Given the description of an element on the screen output the (x, y) to click on. 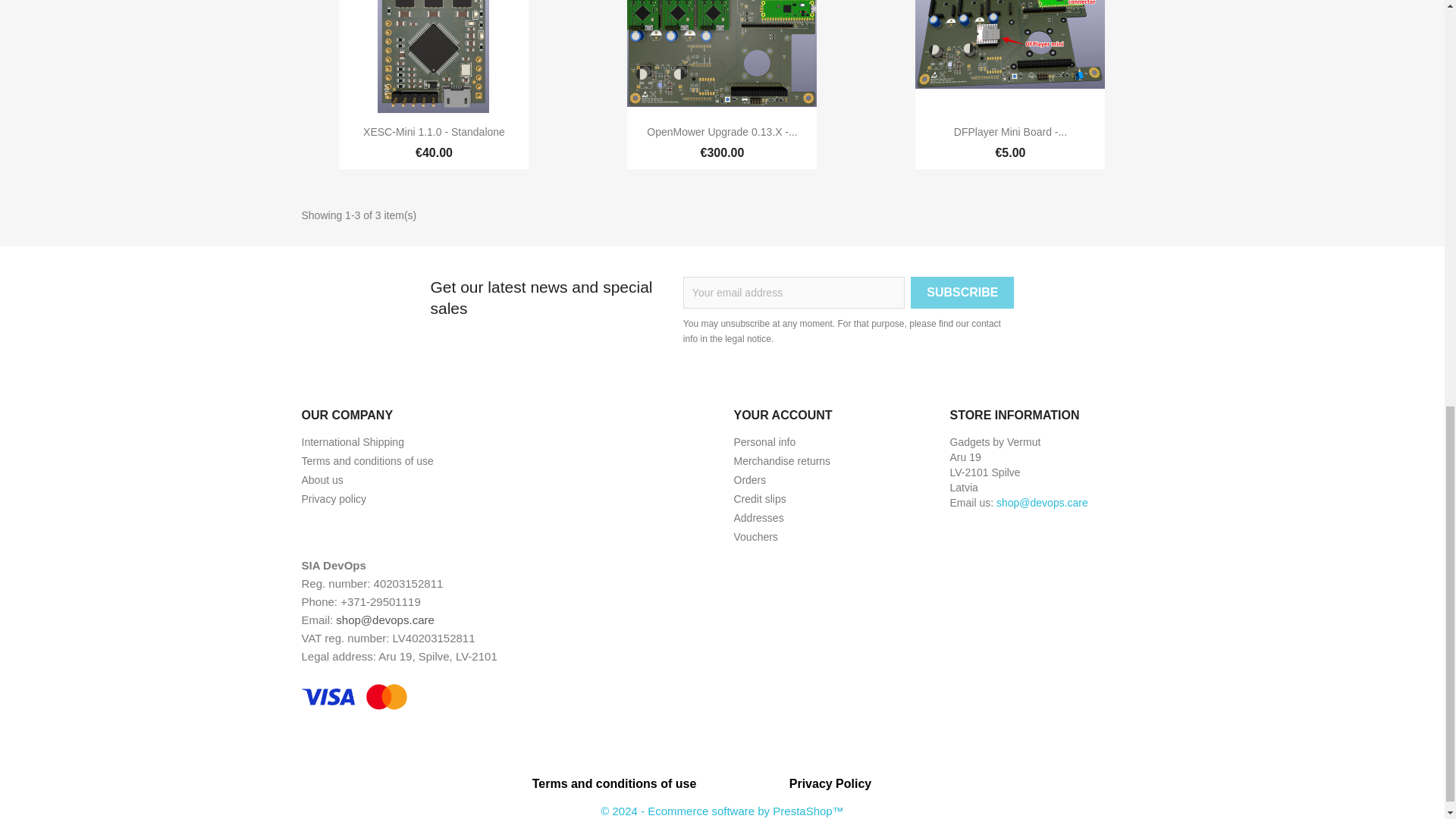
YOUR ACCOUNT (782, 414)
About us (322, 480)
Credit slips (759, 499)
Personal info (764, 441)
OpenMower Upgrade 0.13.X -... (721, 132)
Merchandise returns (782, 460)
Addresses (758, 517)
XESC-Mini 1.1.0 - Standalone (433, 132)
Our terms and conditions of delivery (352, 441)
Orders (750, 480)
Subscribe (962, 292)
Subscribe (962, 292)
Merchandise returns (782, 460)
International Shipping (352, 441)
Learn more about us (322, 480)
